Given the description of an element on the screen output the (x, y) to click on. 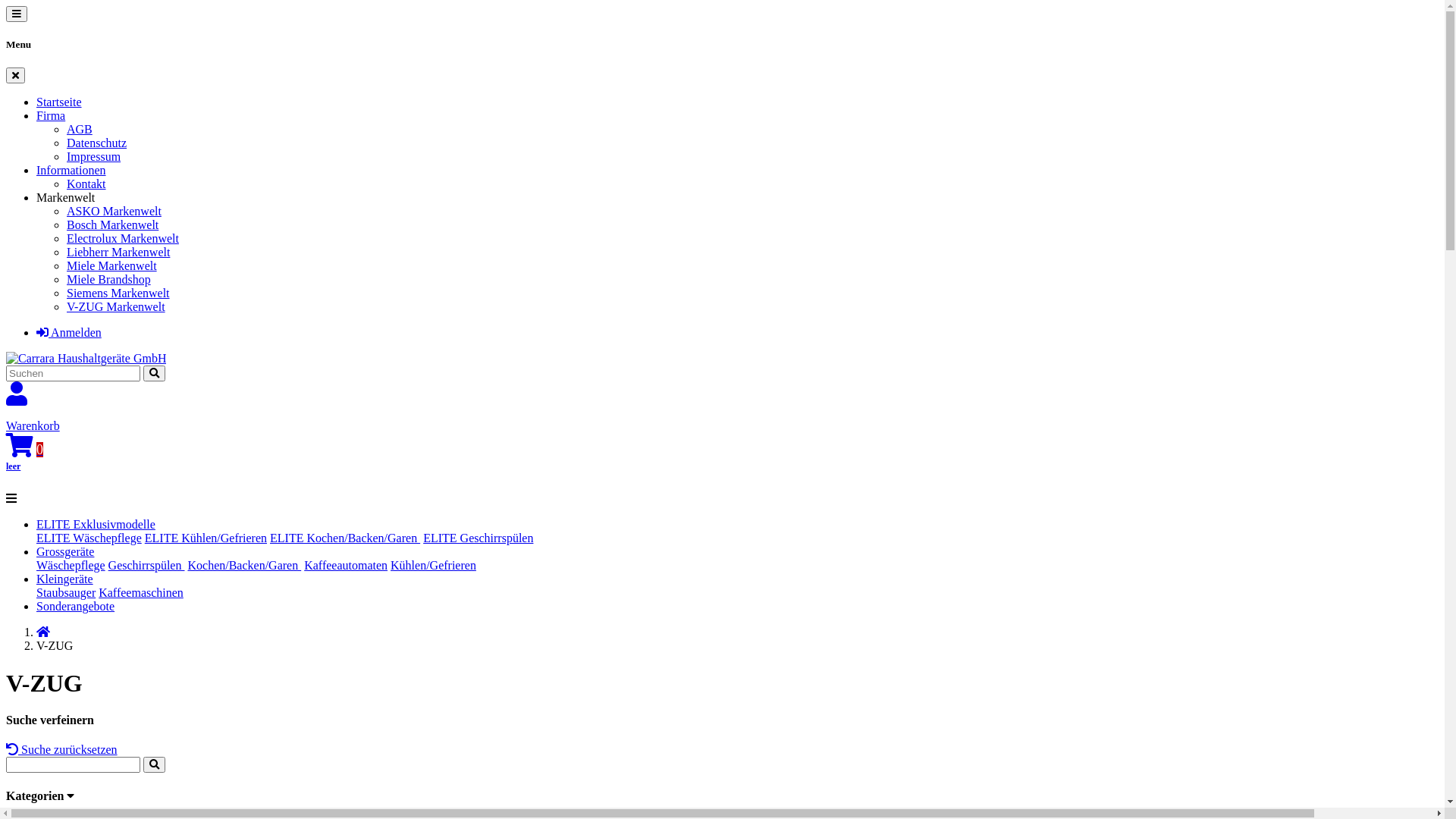
V-ZUG Markenwelt Element type: text (115, 306)
Staubsauger Element type: text (65, 592)
Miele Markenwelt Element type: text (111, 265)
Sonderangebote Element type: text (75, 605)
Informationen Element type: text (71, 169)
Kaffeeautomaten Element type: text (345, 564)
Markenwelt Element type: text (65, 197)
ASKO Markenwelt Element type: text (113, 210)
Anmelden Element type: text (68, 332)
AGB Element type: text (79, 128)
Impressum Element type: text (93, 156)
Warenkorb
0
leer Element type: text (722, 448)
Kontakt Element type: text (86, 183)
Bosch Markenwelt Element type: text (112, 224)
ELITE Kochen/Backen/Garen  Element type: text (344, 537)
Startseite Element type: text (58, 101)
ELITE Exklusivmodelle Element type: text (95, 523)
Siemens Markenwelt Element type: text (117, 292)
Liebherr Markenwelt Element type: text (117, 251)
Suche Element type: hover (154, 373)
Kategorien Element type: text (40, 795)
Firma Element type: text (50, 115)
Datenschutz Element type: text (96, 142)
Electrolux Markenwelt Element type: text (122, 238)
Toggle Navigation Element type: hover (11, 498)
Kochen/Backen/Garen  Element type: text (244, 564)
Miele Brandshop Element type: text (108, 279)
Kaffeemaschinen Element type: text (140, 592)
